Given the description of an element on the screen output the (x, y) to click on. 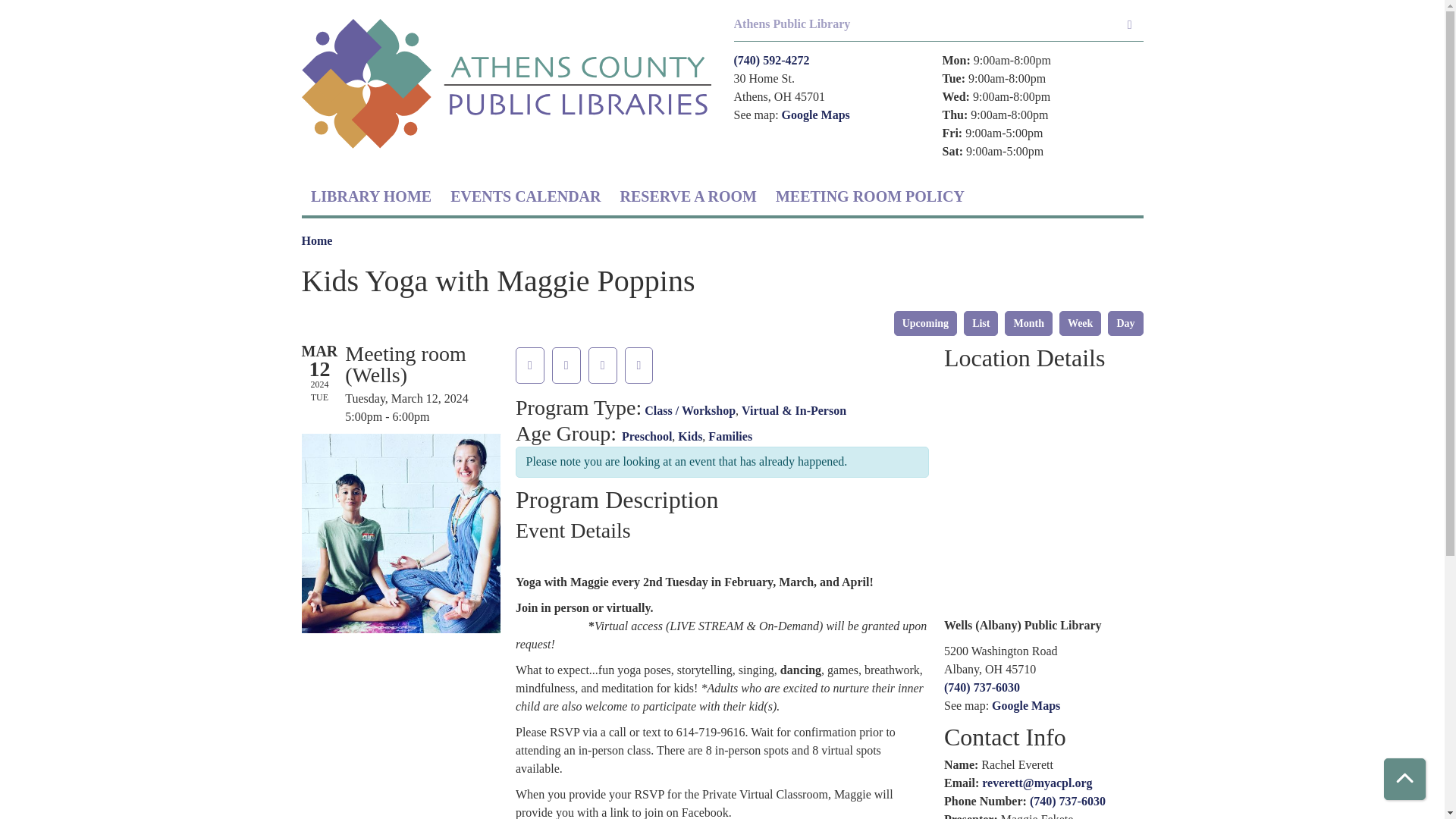
Week (1079, 323)
Kids (689, 436)
Day (1125, 323)
Home (506, 84)
Families (729, 436)
List (980, 323)
Month (1027, 323)
Google Maps (815, 113)
LIBRARY HOME (371, 196)
EVENTS CALENDAR (525, 196)
Home (317, 239)
Back To Top (1404, 779)
Preschool (646, 436)
RESERVE A ROOM (687, 196)
